Given the description of an element on the screen output the (x, y) to click on. 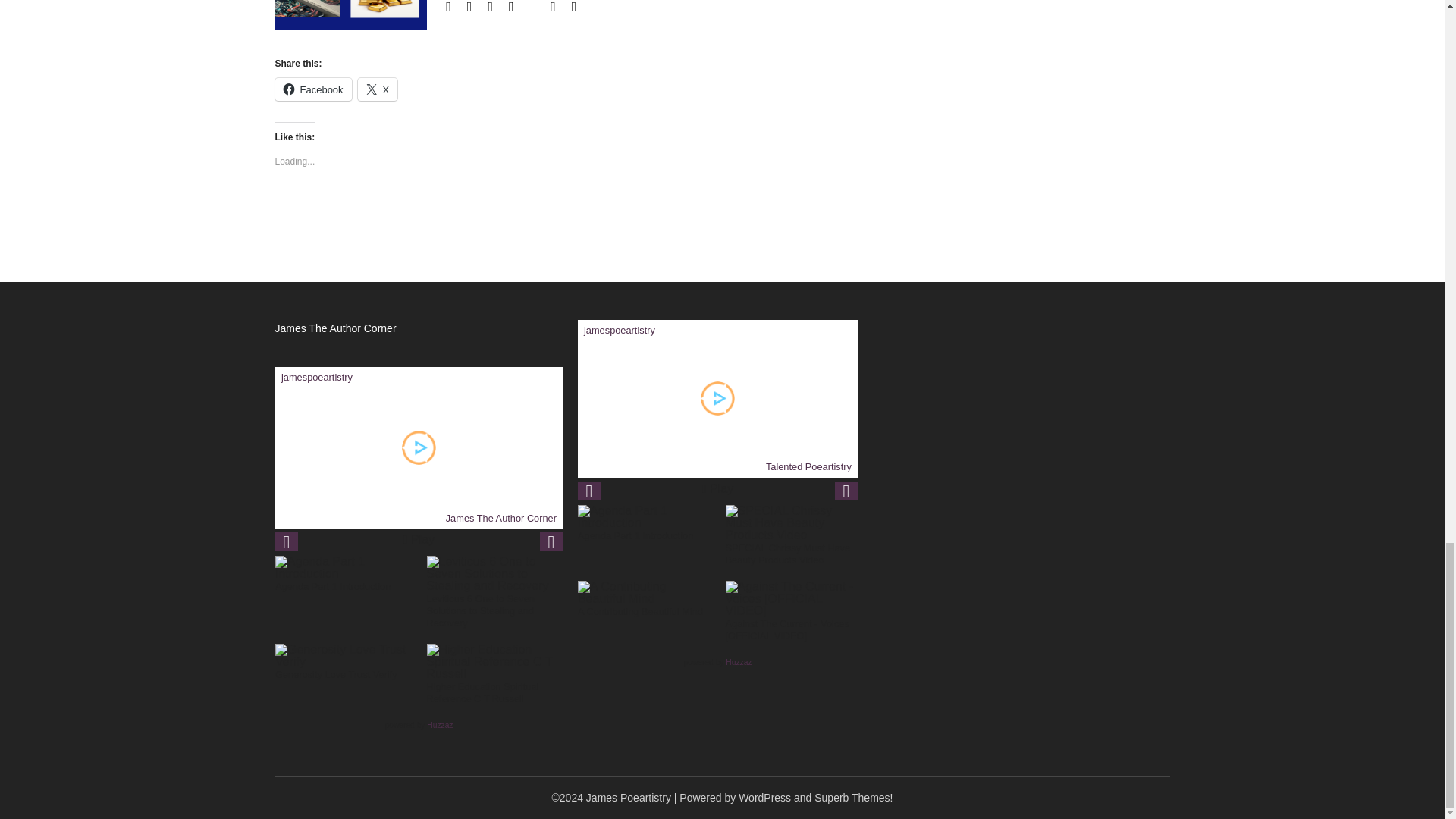
X (377, 88)
Facebook (312, 88)
Click to share on Facebook (312, 88)
Superb Themes! (852, 797)
Like or Reblog (569, 214)
Click to share on X (377, 88)
